Given the description of an element on the screen output the (x, y) to click on. 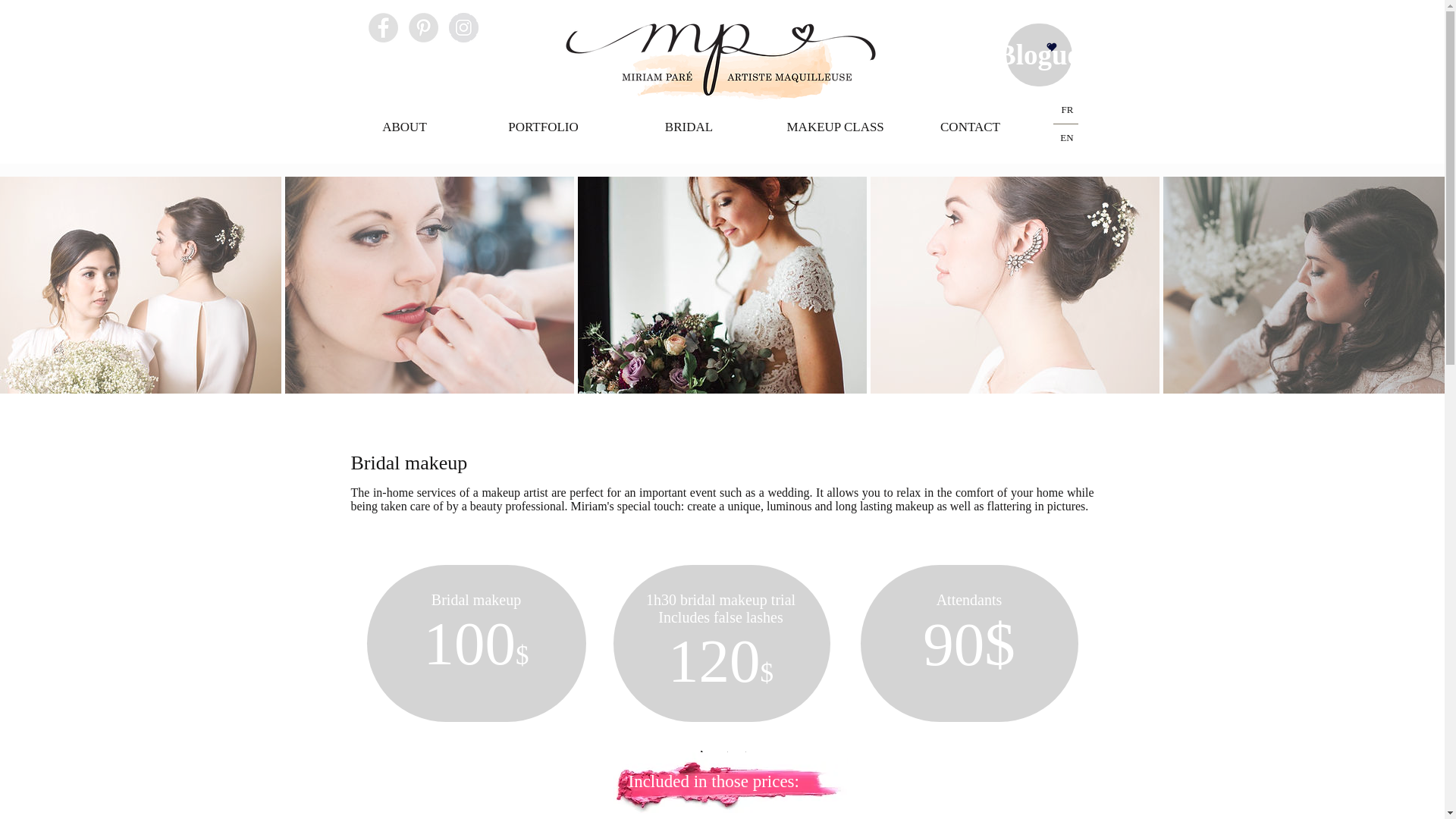
CONTACT (969, 127)
ABOUT (404, 127)
EN (1066, 137)
BRIDAL (688, 127)
Blogue (1038, 54)
PORTFOLIO (542, 127)
MAKEUP CLASS (835, 127)
FR (1067, 109)
